Given the description of an element on the screen output the (x, y) to click on. 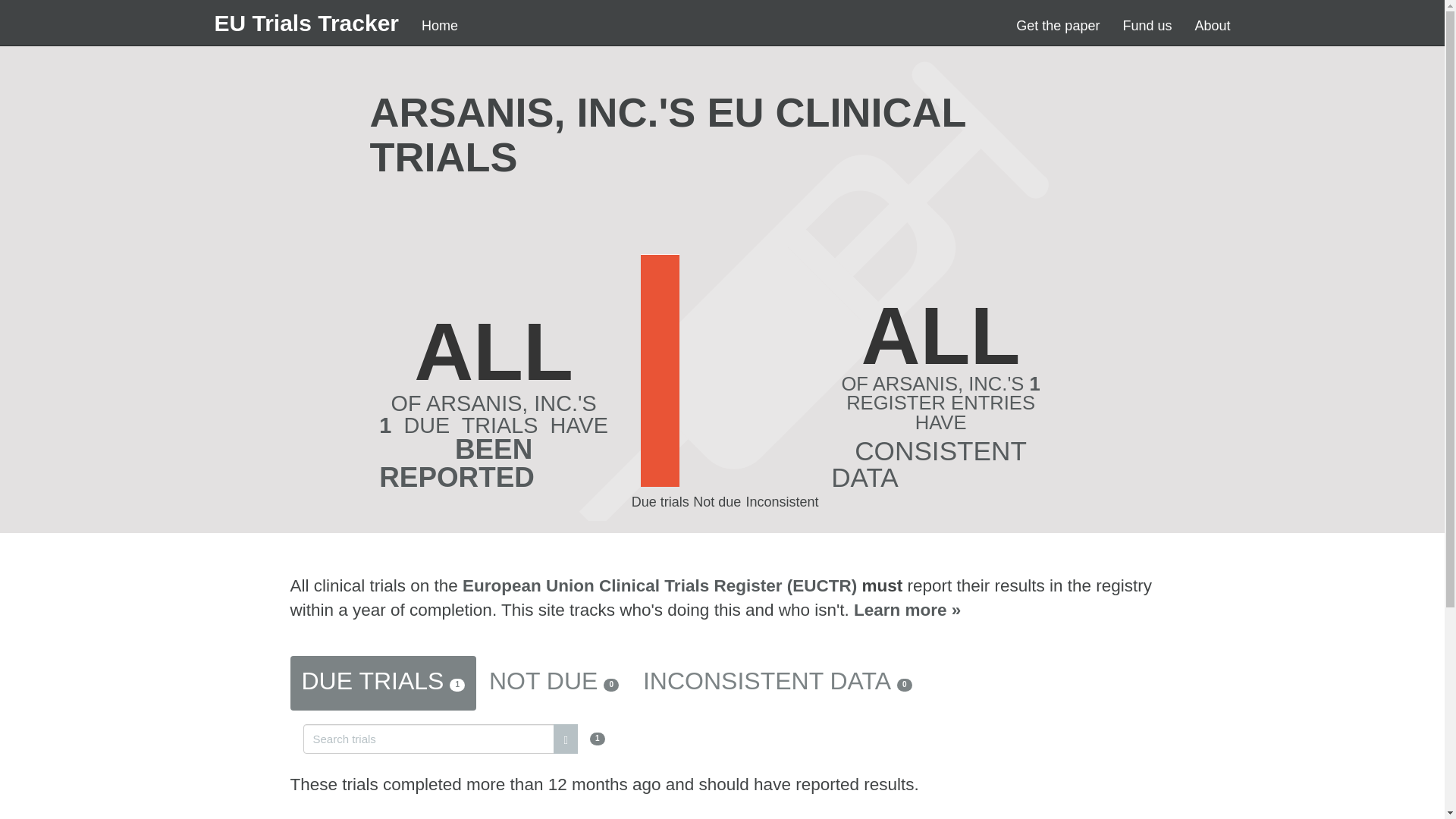
1 (453, 737)
NOT DUE0 (553, 683)
EU Trials Tracker (306, 22)
About (1211, 25)
Fund us (1146, 25)
Get the paper (1057, 25)
Home (439, 25)
INCONSISTENT DATA0 (777, 683)
DUE TRIALS1 (382, 683)
